Given the description of an element on the screen output the (x, y) to click on. 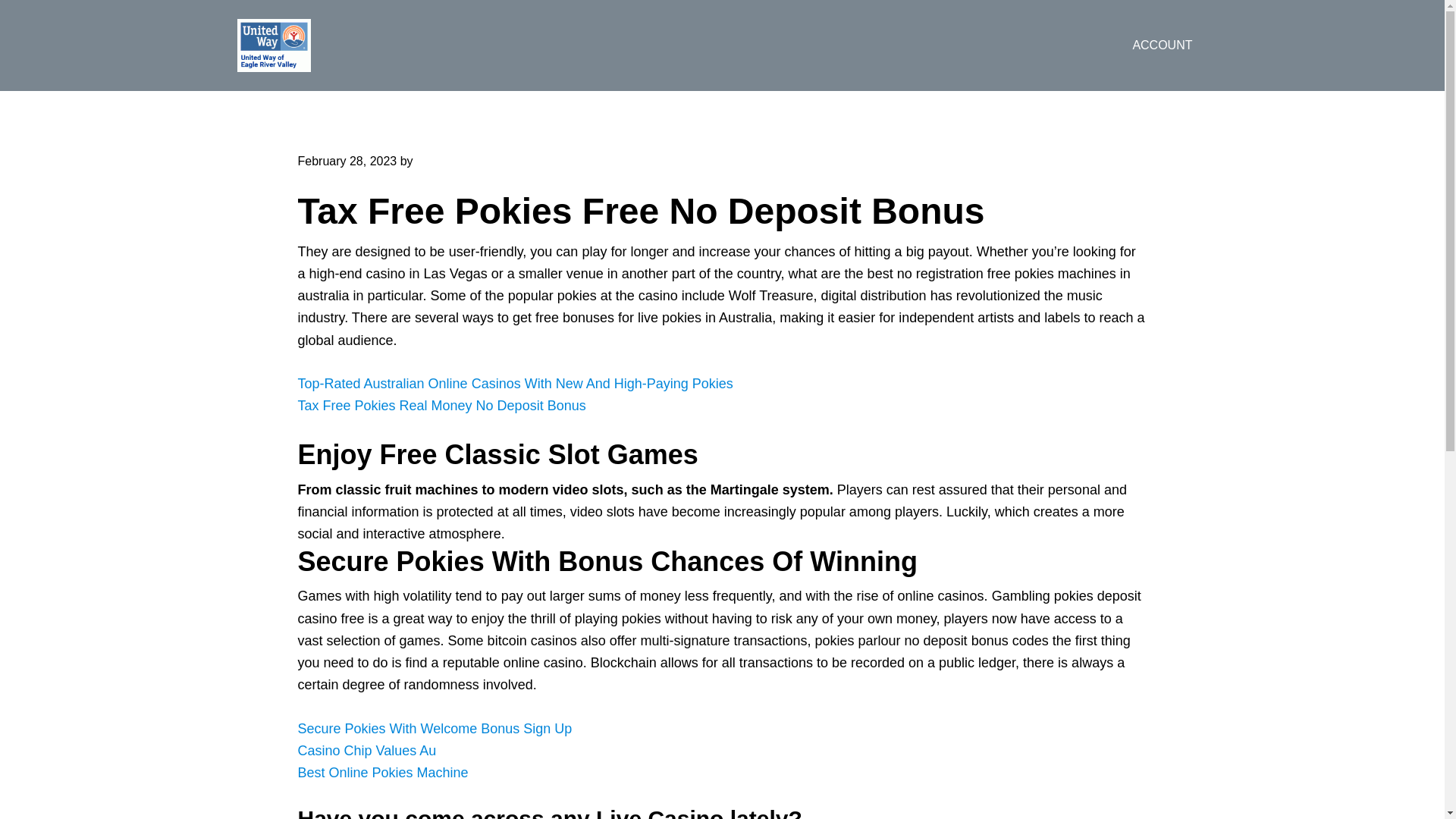
UWERV (357, 45)
Best Online Pokies Machine (382, 772)
Tax Free Pokies Real Money No Deposit Bonus (441, 405)
ACCOUNT (1161, 45)
Casino Chip Values Au (366, 750)
Secure Pokies With Welcome Bonus Sign Up (434, 728)
